Given the description of an element on the screen output the (x, y) to click on. 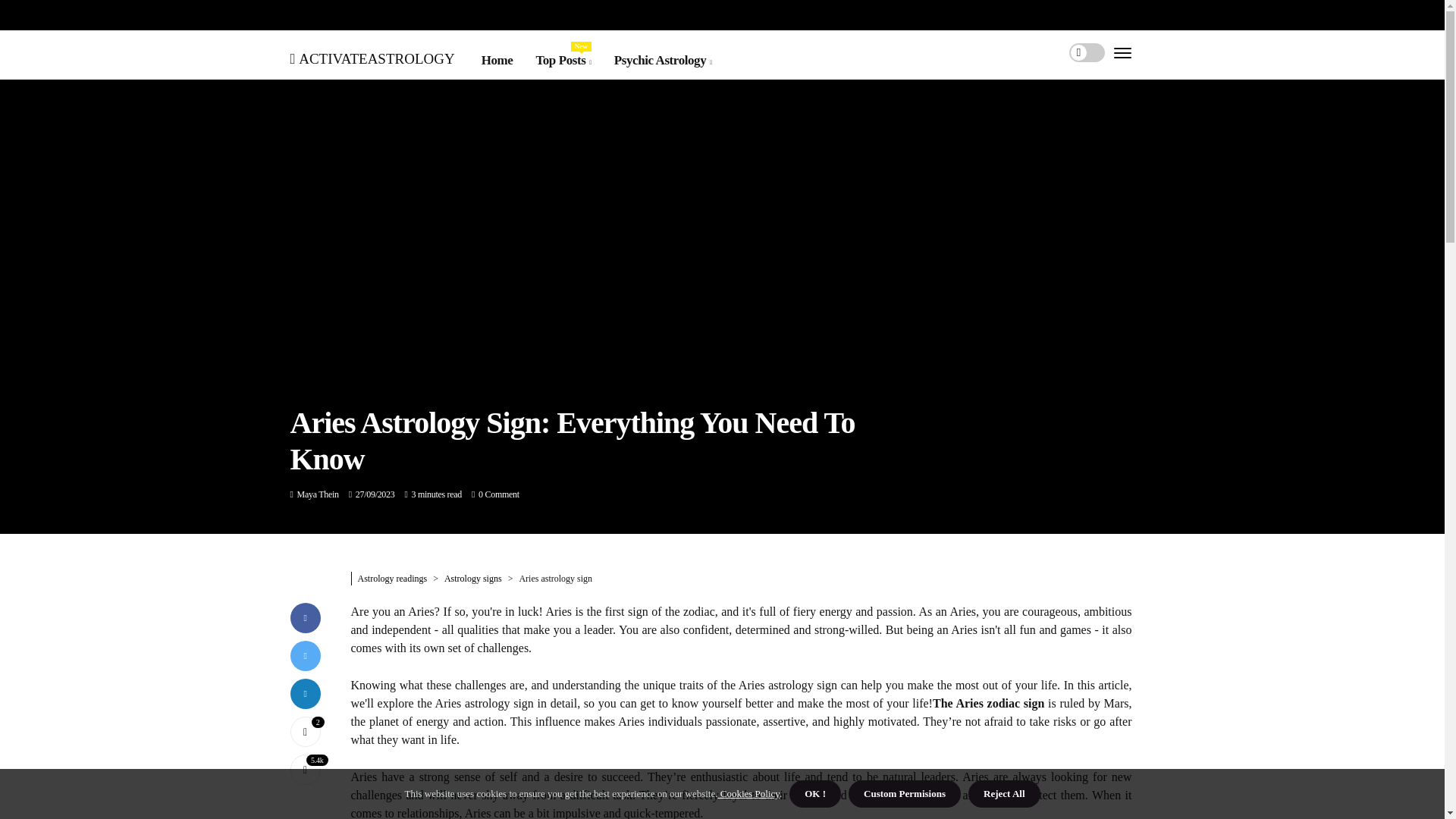
Posts by Maya Thein (318, 493)
activateastrology (371, 56)
Like (304, 730)
Psychic Astrology (563, 60)
